Given the description of an element on the screen output the (x, y) to click on. 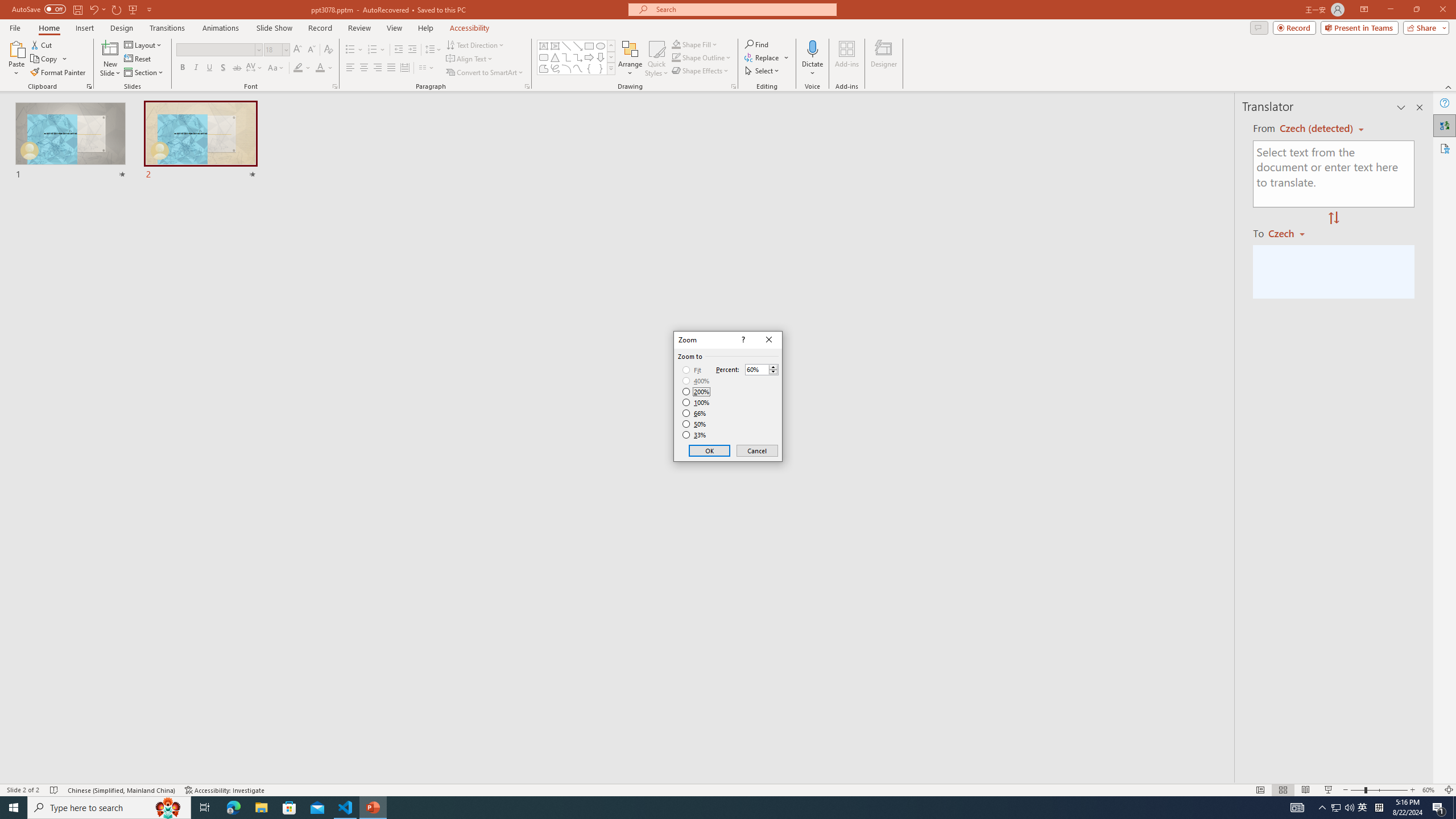
200% (696, 391)
Percent (761, 369)
